Given the description of an element on the screen output the (x, y) to click on. 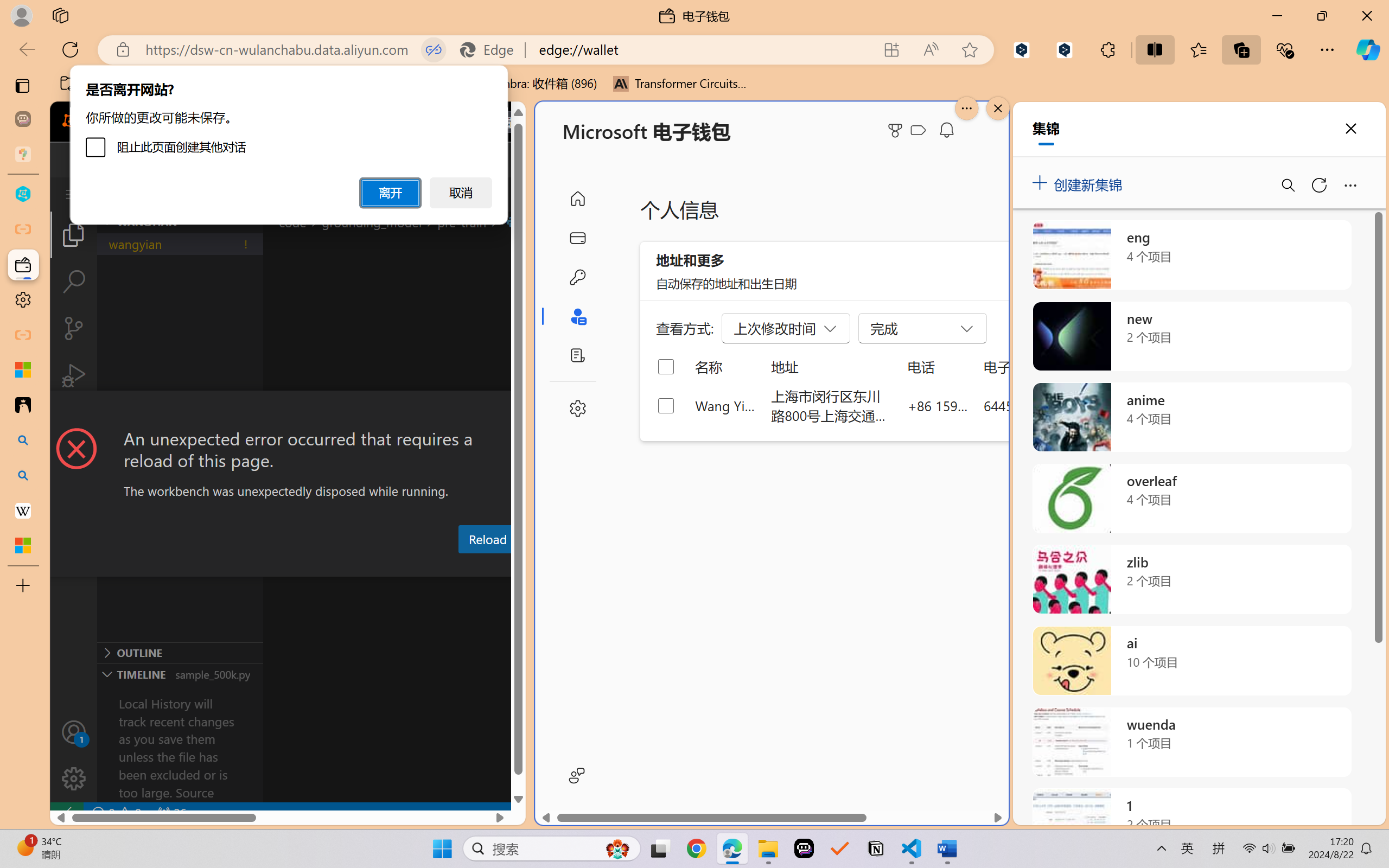
Reload (486, 538)
+86 159 0032 4640 (938, 405)
Manage (73, 778)
